Given the description of an element on the screen output the (x, y) to click on. 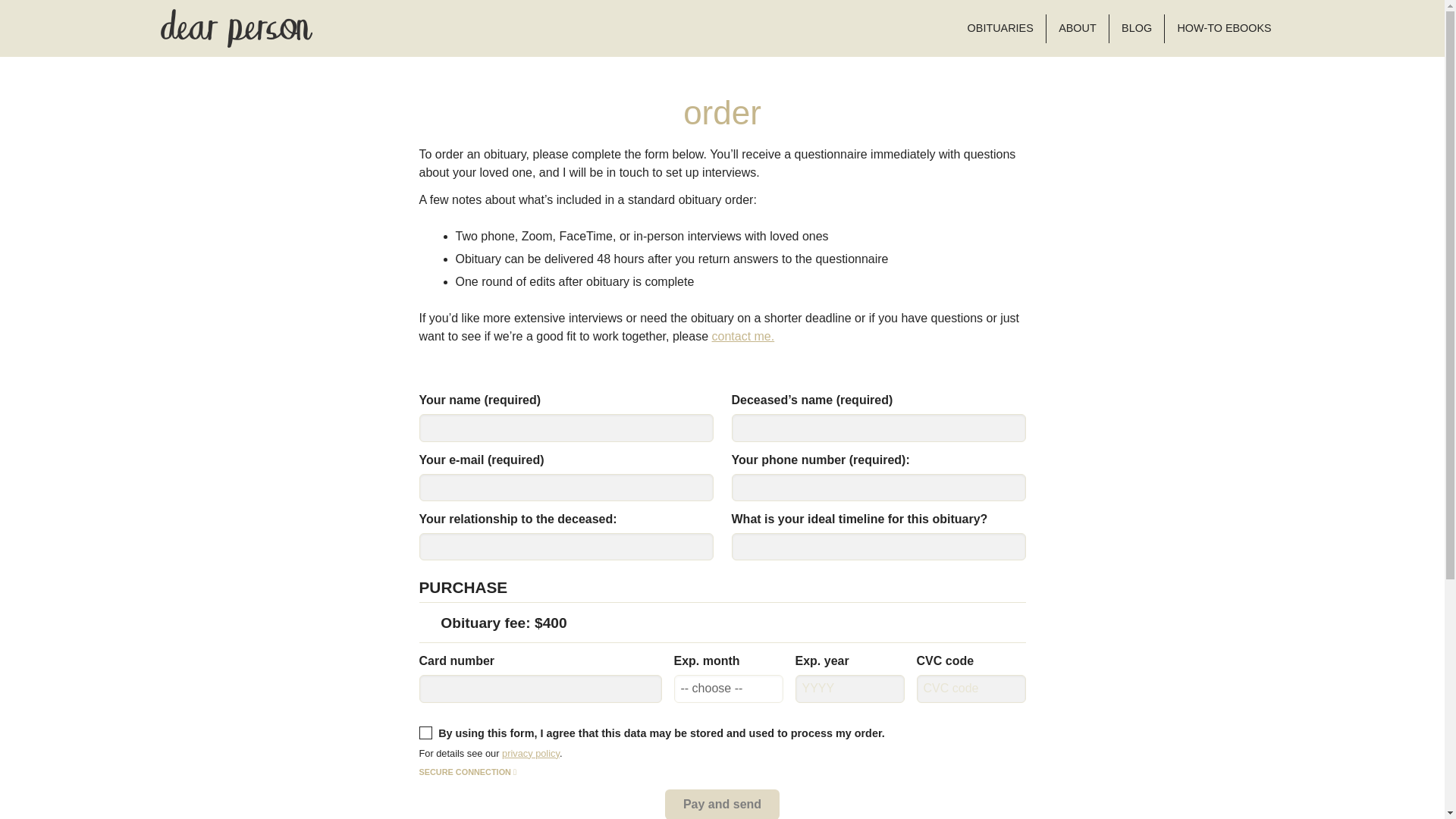
privacy policy (530, 753)
ABOUT (1077, 28)
contact me. (742, 336)
OBITUARIES (1000, 28)
Pay and send (721, 804)
BLOG (1136, 28)
Pay and send (721, 804)
HOW-TO EBOOKS (1224, 28)
